Given the description of an element on the screen output the (x, y) to click on. 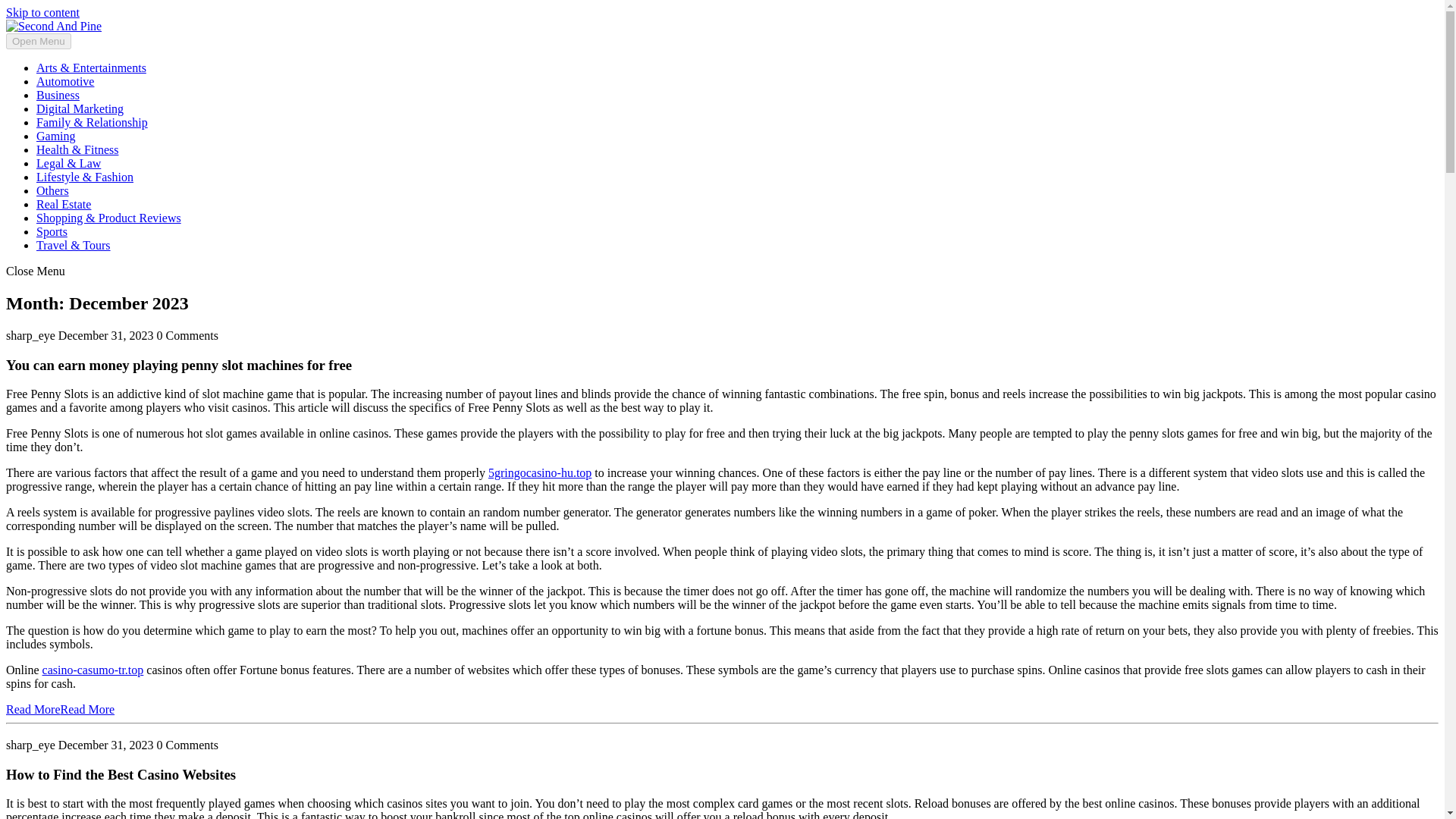
Skip to content (42, 11)
Real Estate (63, 204)
Business (58, 94)
Open Menu (38, 41)
5gringocasino-hu.top (539, 472)
Close Menu (35, 270)
Read MoreRead More (60, 708)
Automotive (65, 81)
Others (52, 190)
Gaming (55, 135)
